Given the description of an element on the screen output the (x, y) to click on. 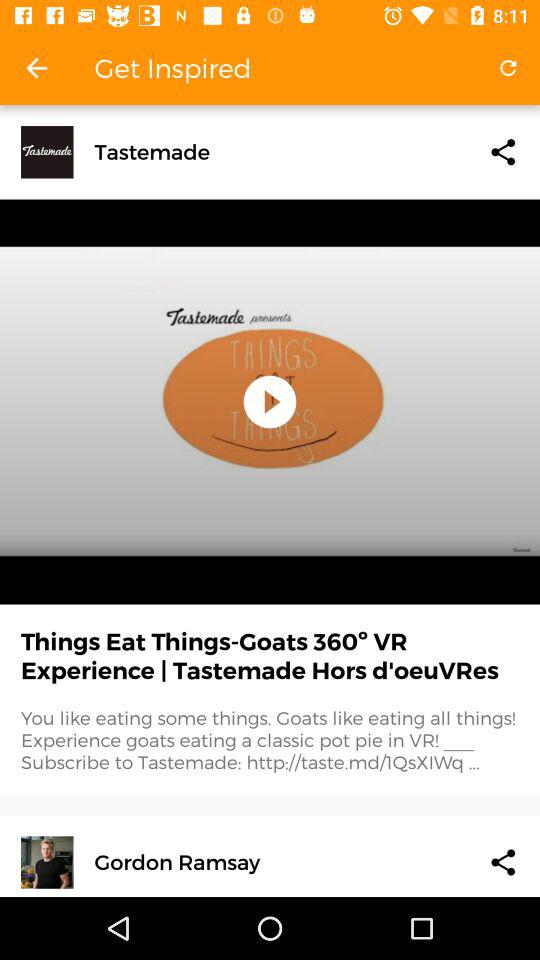
select the icon next to get inspired icon (508, 67)
